Given the description of an element on the screen output the (x, y) to click on. 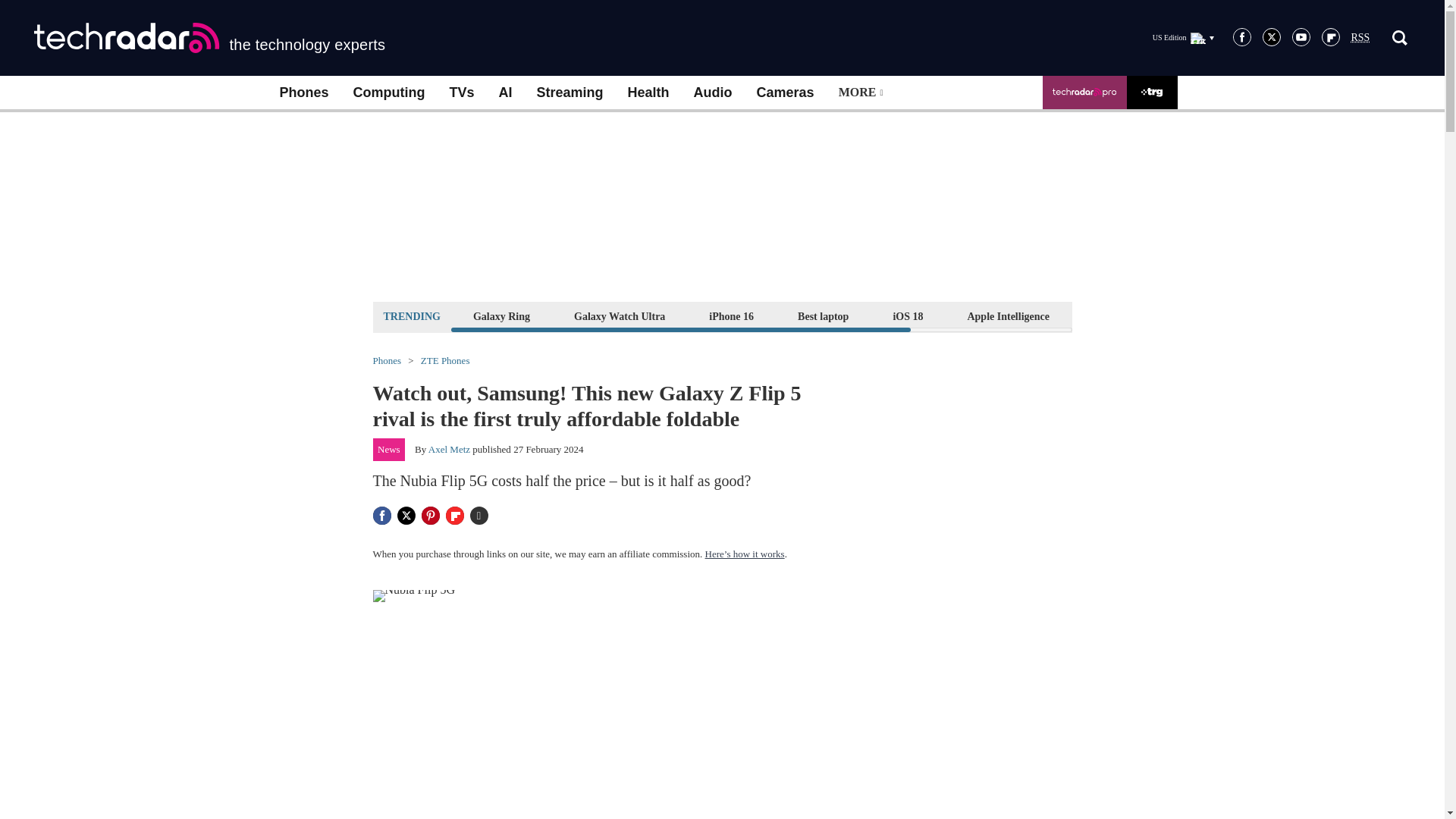
Computing (389, 92)
Health (648, 92)
US Edition (1182, 37)
Streaming (569, 92)
Audio (712, 92)
Phones (303, 92)
Really Simple Syndication (1360, 37)
Cameras (785, 92)
TVs (461, 92)
the technology experts (209, 38)
